Given the description of an element on the screen output the (x, y) to click on. 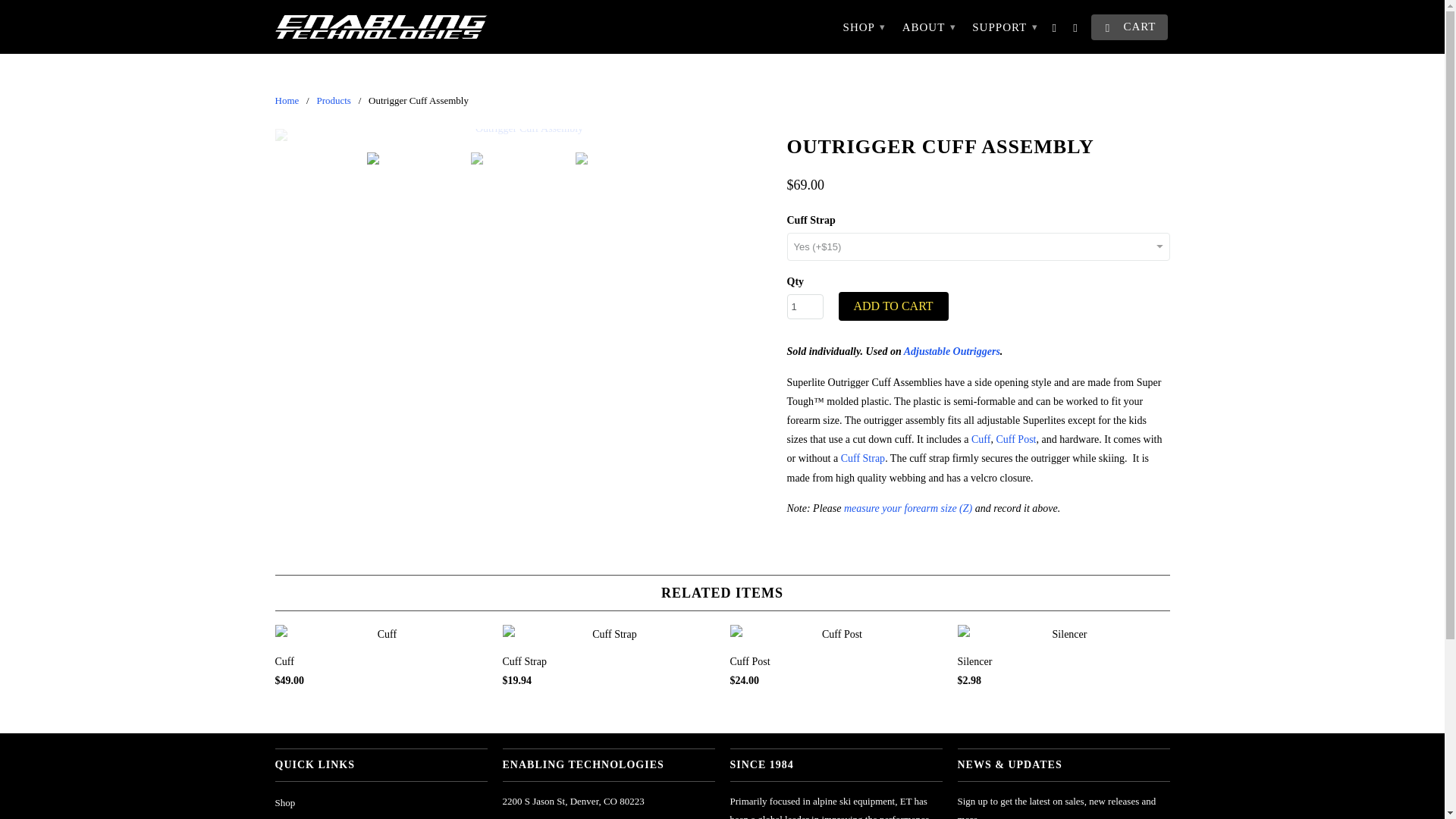
Shop (285, 802)
Enabling Technologies (380, 26)
Products (332, 100)
Product Manuals (307, 818)
Outrigger Cuff Assembly (523, 134)
1 (805, 306)
Enabling Technologies (286, 100)
